Given the description of an element on the screen output the (x, y) to click on. 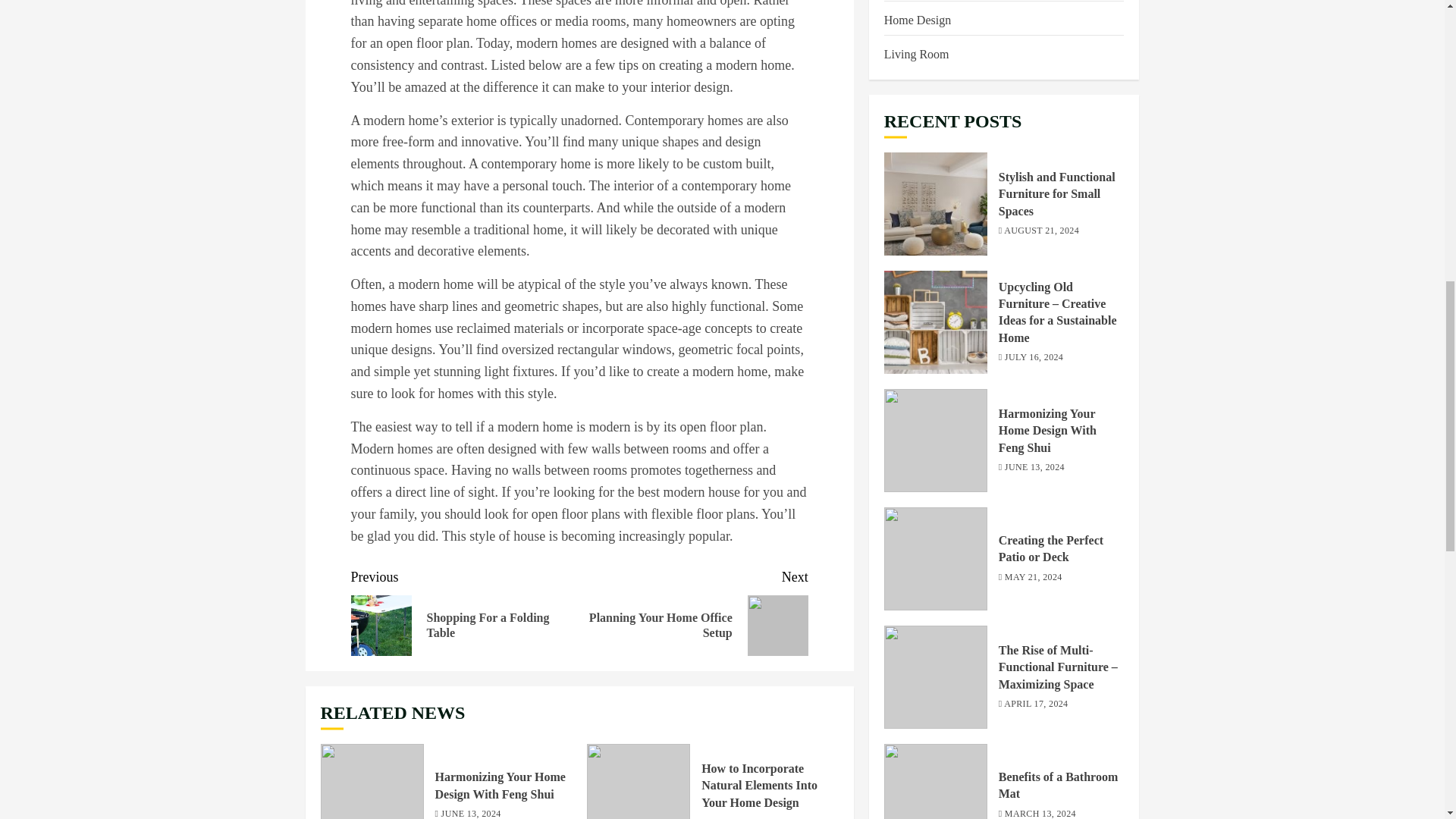
Harmonizing Your Home Design With Feng Shui (500, 785)
Benefits of a Bathroom Mat (1058, 490)
Benefits of a Bathroom Mat (935, 500)
Harmonizing Your Home Design With Feng Shui (1047, 136)
Creating the Perfect Patio or Deck (935, 264)
Harmonizing Your Home Design With Feng Shui (935, 146)
How to Incorporate Natural Elements Into Your Home Design (758, 785)
Creating the Perfect Patio or Deck (1050, 254)
How to Incorporate Natural Elements Into Your Home Design (638, 781)
Harmonizing Your Home Design With Feng Shui (371, 781)
